Given the description of an element on the screen output the (x, y) to click on. 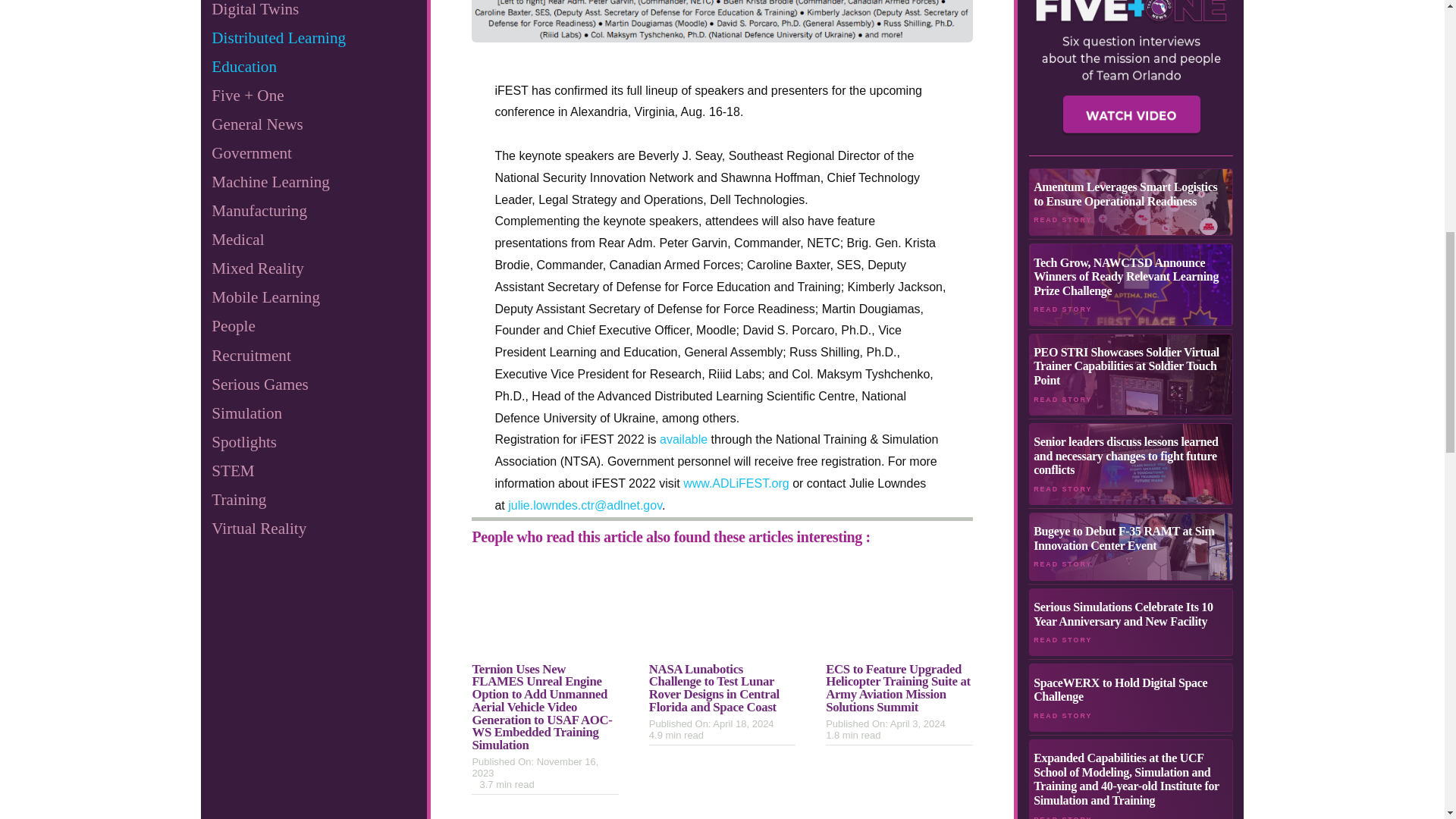
Government (312, 152)
Distributed Learning (312, 37)
General News (312, 123)
Machine Learning (312, 181)
Manufacturing (312, 210)
adlspeakers (721, 20)
Education (312, 66)
Digital Twins (312, 11)
Medical (312, 239)
